Given the description of an element on the screen output the (x, y) to click on. 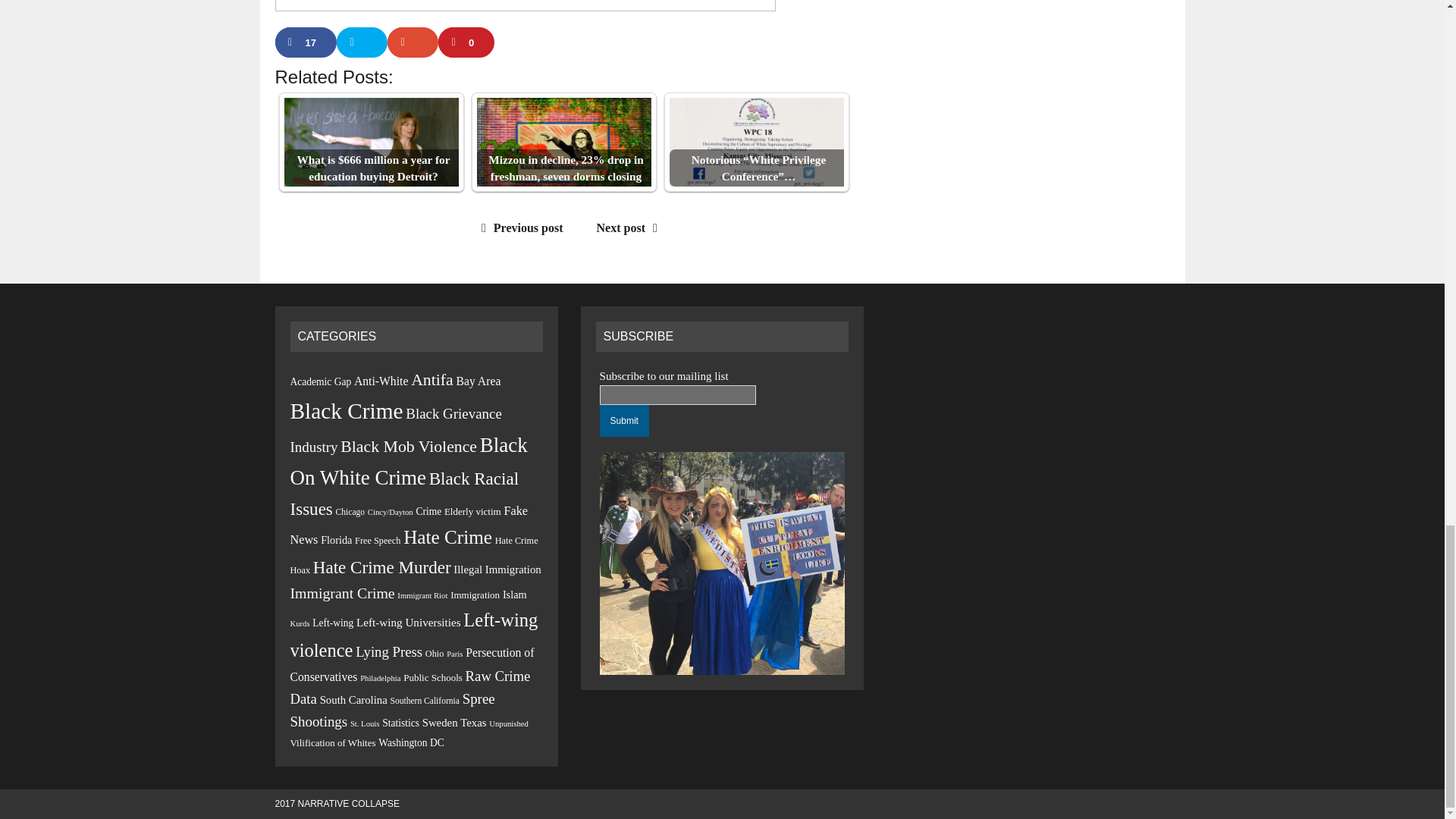
Black Crime (346, 410)
Bay Area (478, 380)
17 (305, 42)
Anti-White (380, 380)
Antifa (431, 380)
Academic Gap (319, 381)
Submit (624, 420)
Black Grievance Industry (394, 430)
Next post (630, 227)
0 (466, 42)
Previous post (518, 227)
